Given the description of an element on the screen output the (x, y) to click on. 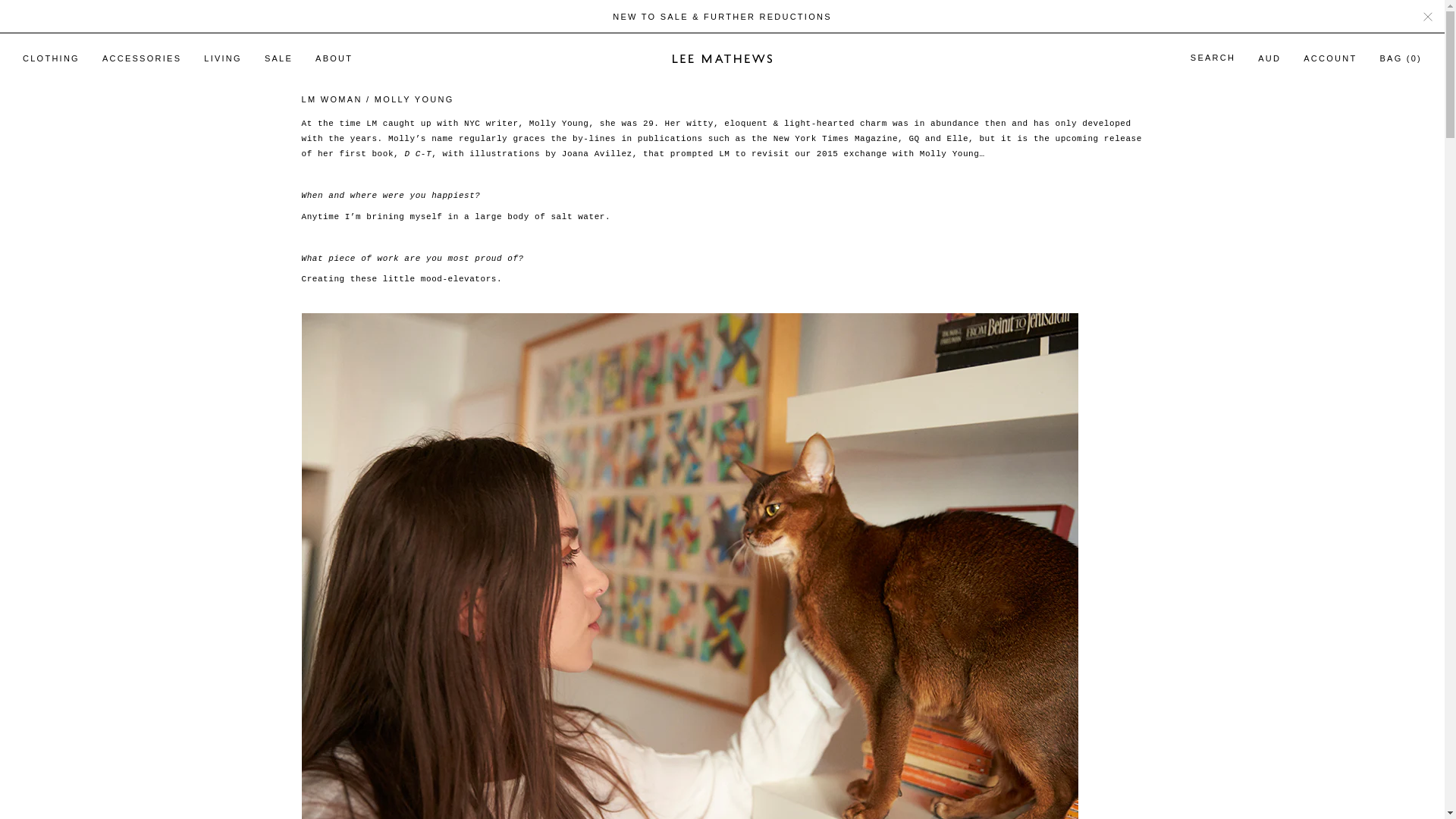
Lee Mathews (721, 58)
CLOTHING (50, 58)
ACCESSORIES (141, 58)
All Sale (721, 16)
Clothing (50, 58)
